Given the description of an element on the screen output the (x, y) to click on. 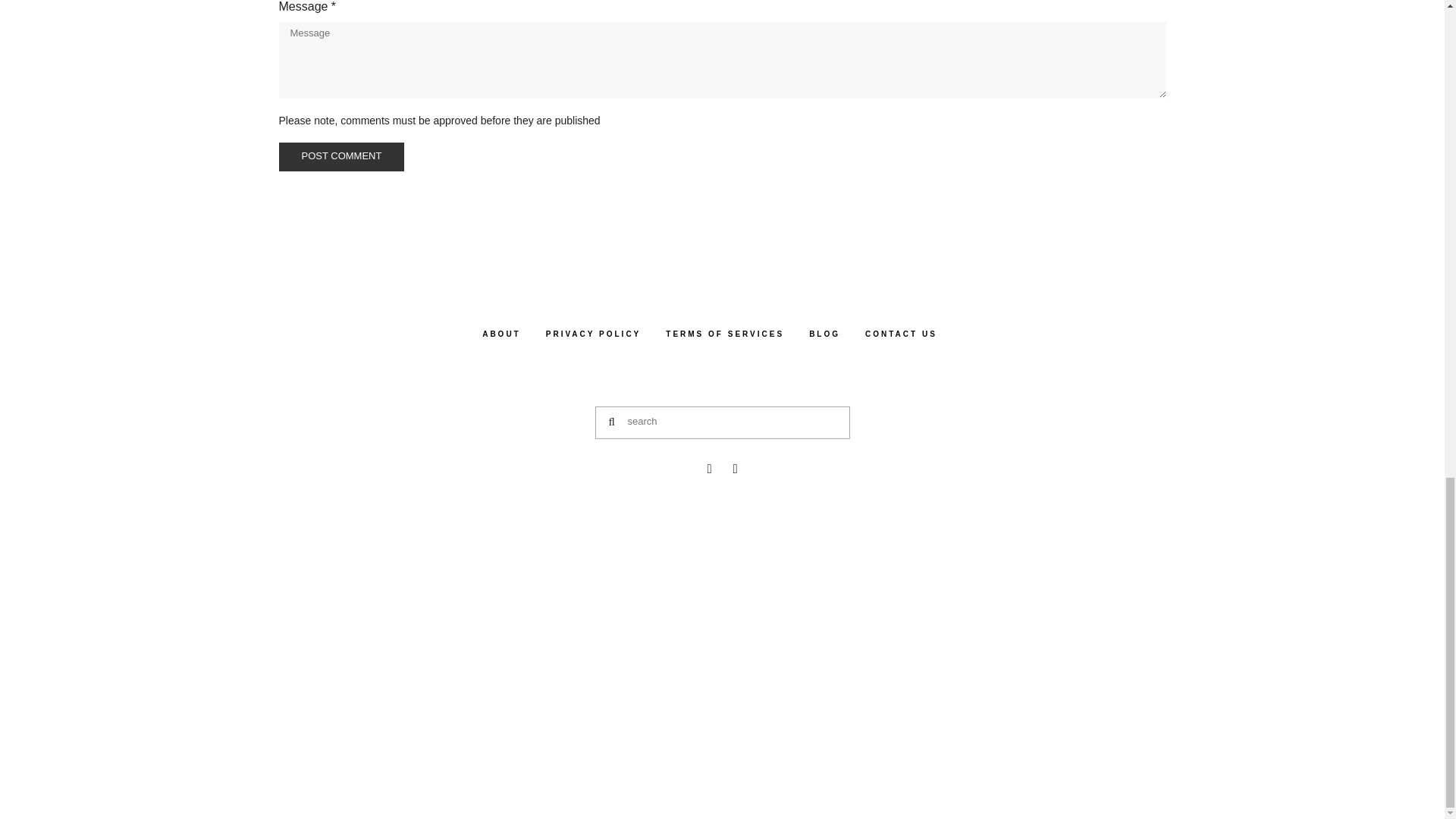
Post comment (341, 156)
